Given the description of an element on the screen output the (x, y) to click on. 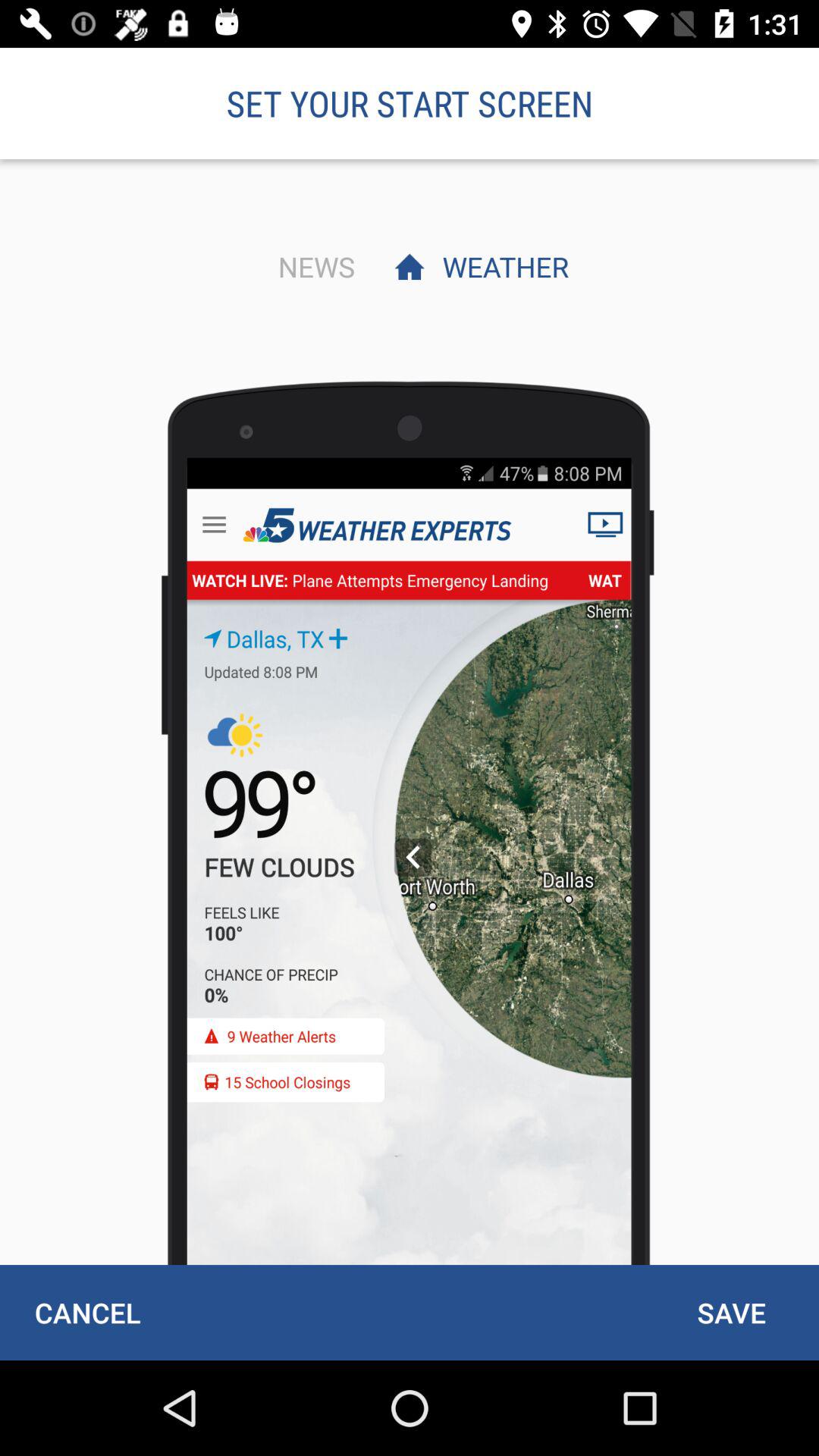
scroll to set your start icon (409, 103)
